Given the description of an element on the screen output the (x, y) to click on. 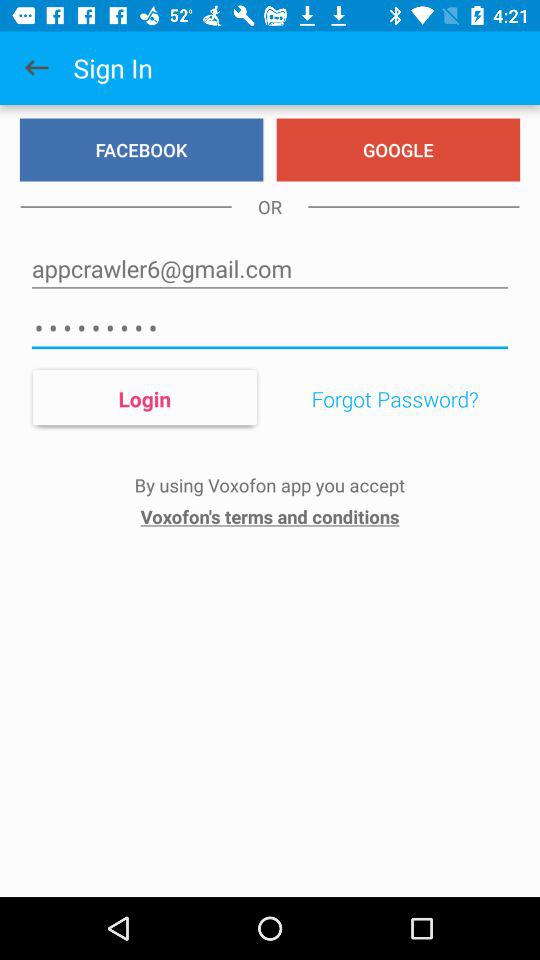
swipe to the voxofon s terms (269, 516)
